Given the description of an element on the screen output the (x, y) to click on. 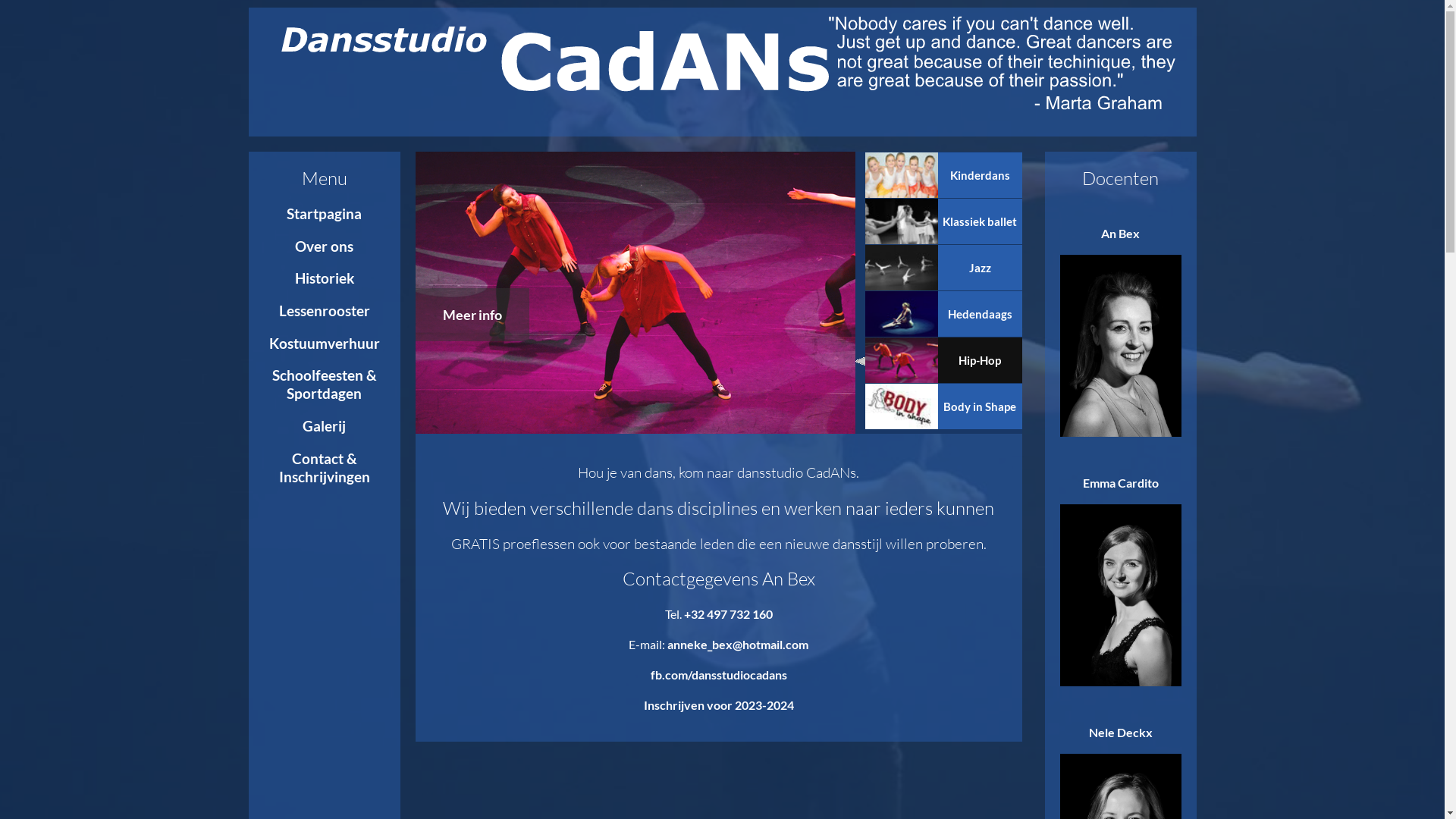
Emma Cardito Element type: text (1120, 575)
Hedendaags Element type: text (942, 313)
Klassiek ballet Element type: text (942, 221)
Kinderdans Element type: text (942, 174)
Historiek Element type: text (323, 277)
Hip-Hop Element type: text (942, 359)
Jazz Element type: text (942, 267)
An Bex Element type: text (1120, 325)
Lessenrooster Element type: text (324, 310)
Dansstudio CadANs Element type: hover (721, 64)
anneke_bex@hotmail.com Element type: text (737, 644)
Over ons Element type: text (323, 246)
Galerij Element type: text (323, 425)
+32 497 732 160 Element type: text (728, 613)
Meer info Element type: text (472, 314)
Kostuumverhuur Element type: text (323, 343)
Body in Shape Element type: text (942, 406)
fb.com/dansstudiocadans Element type: text (718, 674)
Inschrijven voor 2023-2024 Element type: text (718, 704)
Contact & Inschrijvingen Element type: text (324, 467)
Schoolfeesten & Sportdagen Element type: text (323, 384)
Startpagina Element type: text (323, 213)
